Given the description of an element on the screen output the (x, y) to click on. 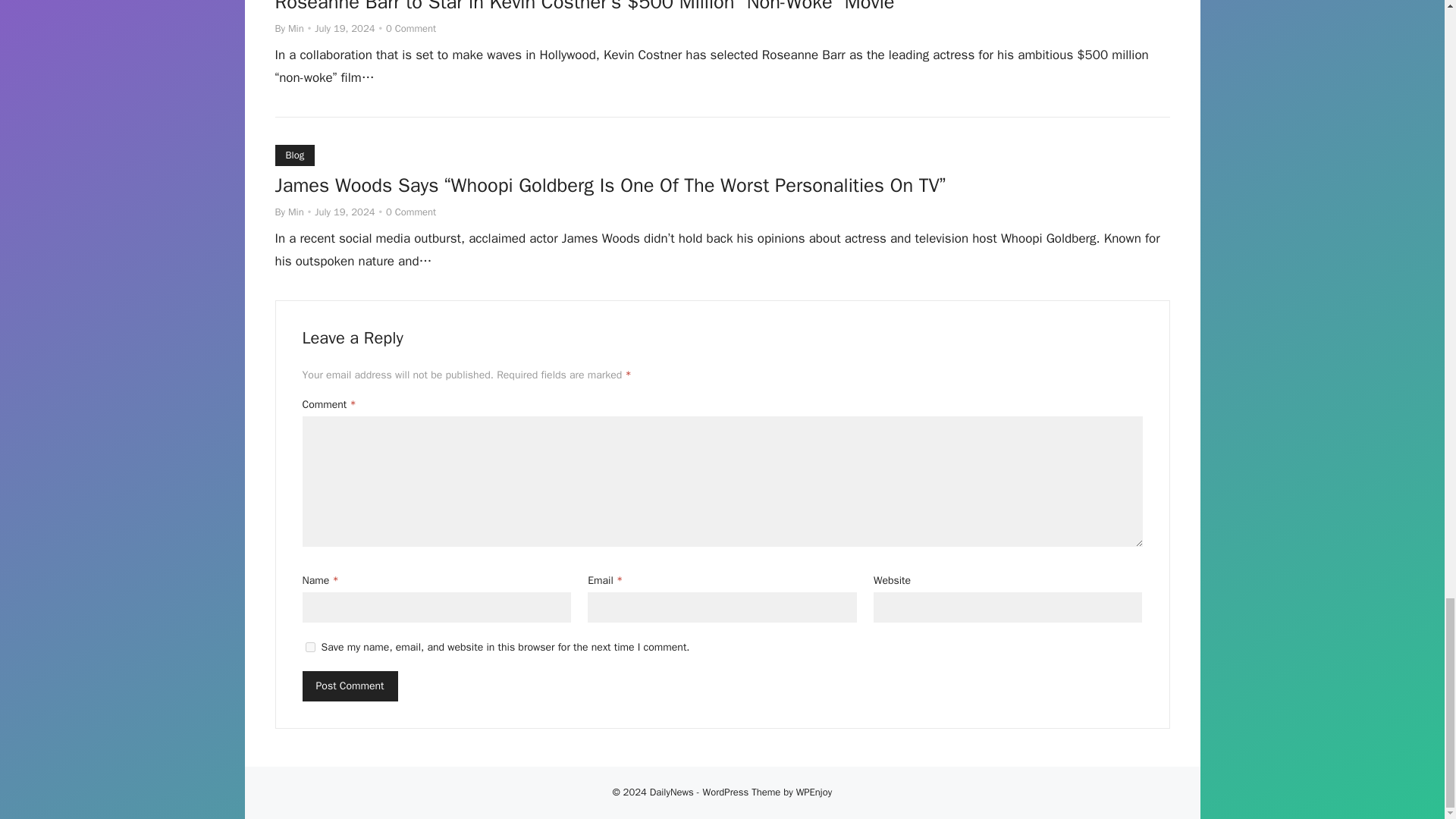
0 Comment (410, 211)
0 Comment (410, 28)
Post Comment (349, 685)
Post Comment (349, 685)
Posts by Min (296, 28)
Posts by Min (296, 211)
Min (296, 211)
Blog (294, 155)
Min (296, 28)
yes (309, 646)
DailyNews (671, 794)
